Given the description of an element on the screen output the (x, y) to click on. 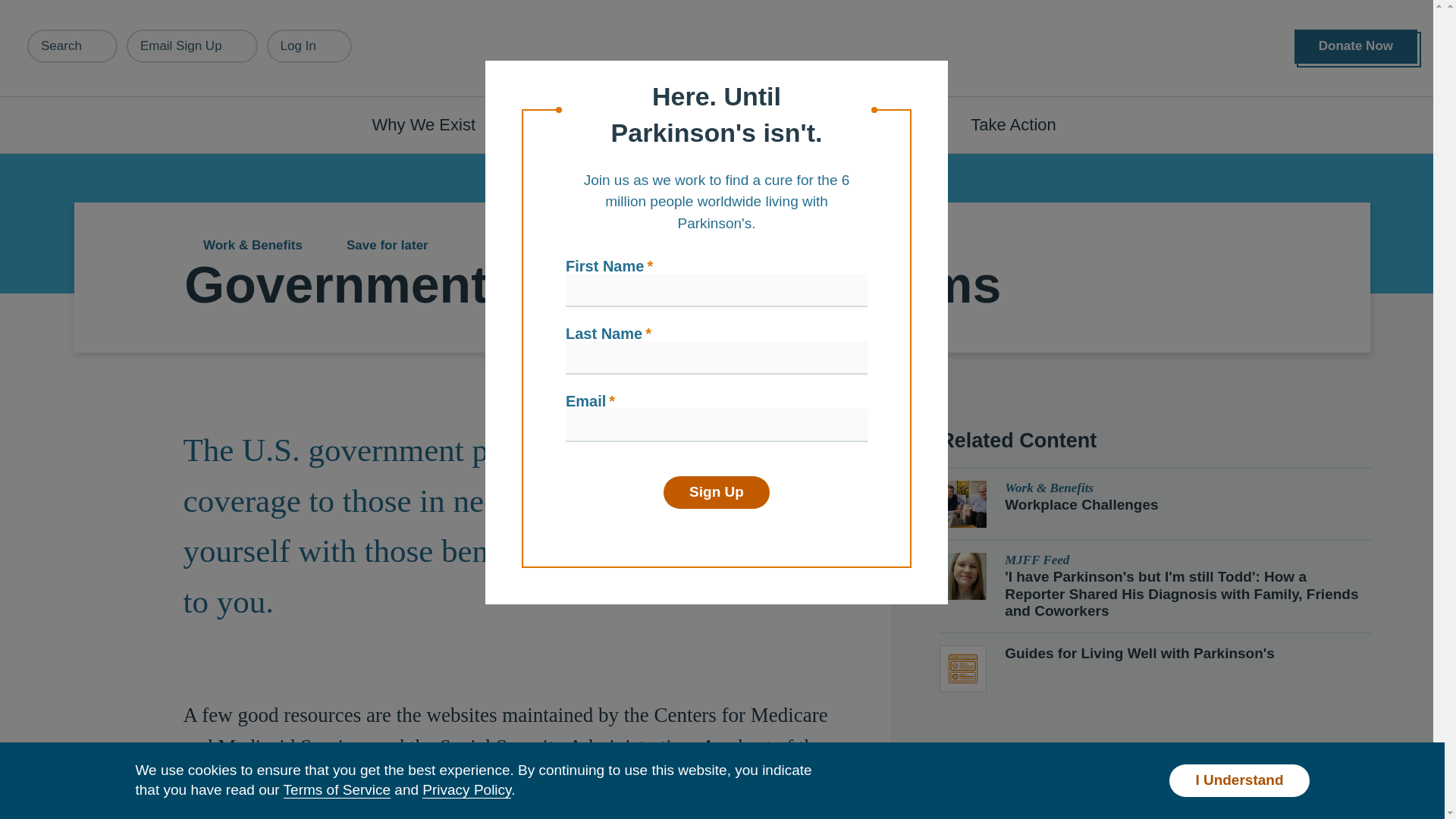
Donate Now (1355, 46)
Email Sign Up (191, 46)
Home Page (722, 48)
Skip to main content (96, 7)
Why We Exist (432, 125)
Search (72, 46)
Log In (309, 46)
Understanding Parkinson's (640, 125)
